Given the description of an element on the screen output the (x, y) to click on. 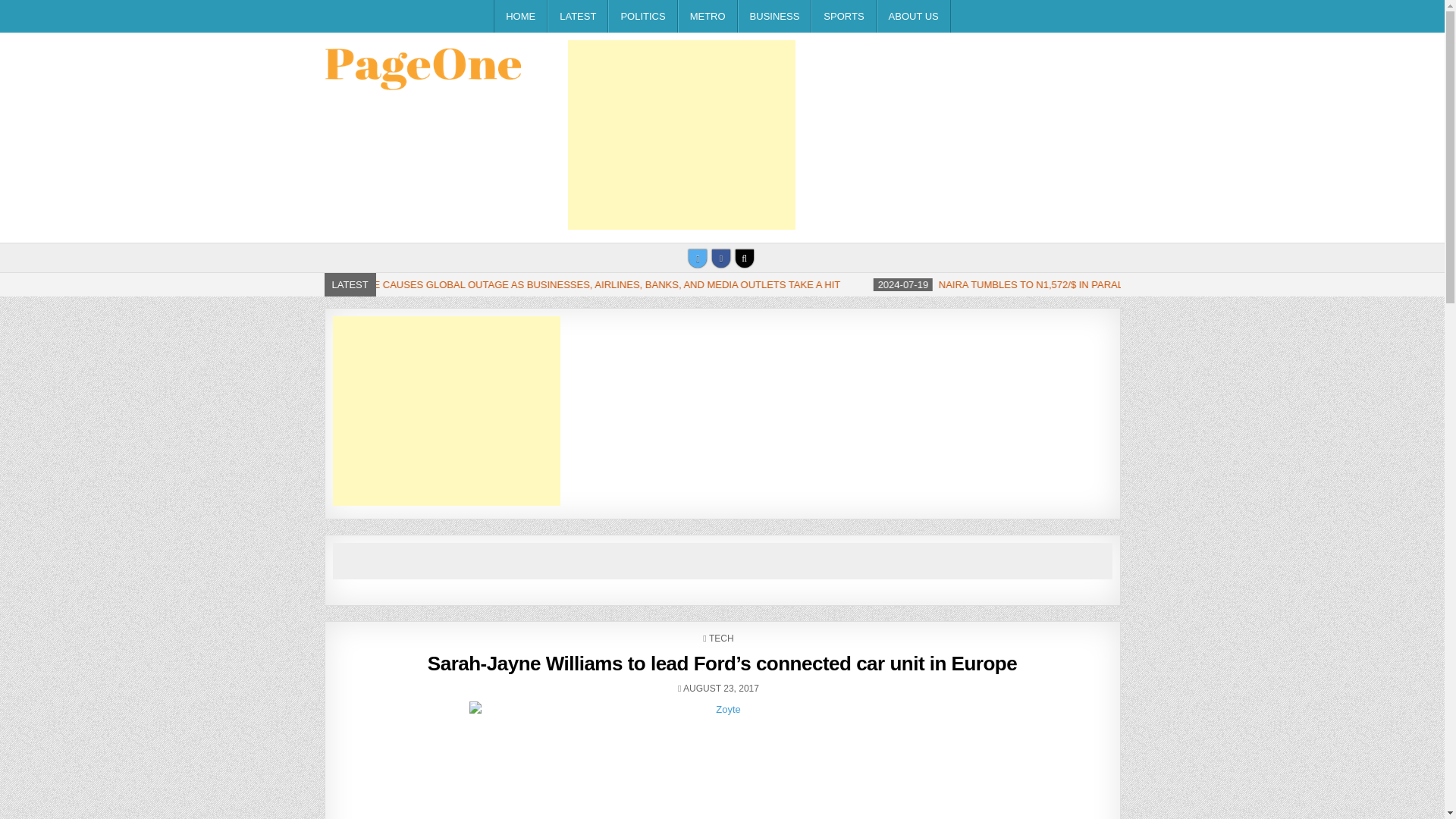
2024-07-19 (1240, 284)
Advertisement (680, 135)
POLITICS (642, 16)
TECH (721, 638)
Search (744, 258)
Twitter (697, 258)
SPORTS (843, 16)
LATEST (577, 16)
ABOUT US (913, 16)
HOME (520, 16)
METRO (708, 16)
Facebook (720, 258)
BUSINESS (775, 16)
